Given the description of an element on the screen output the (x, y) to click on. 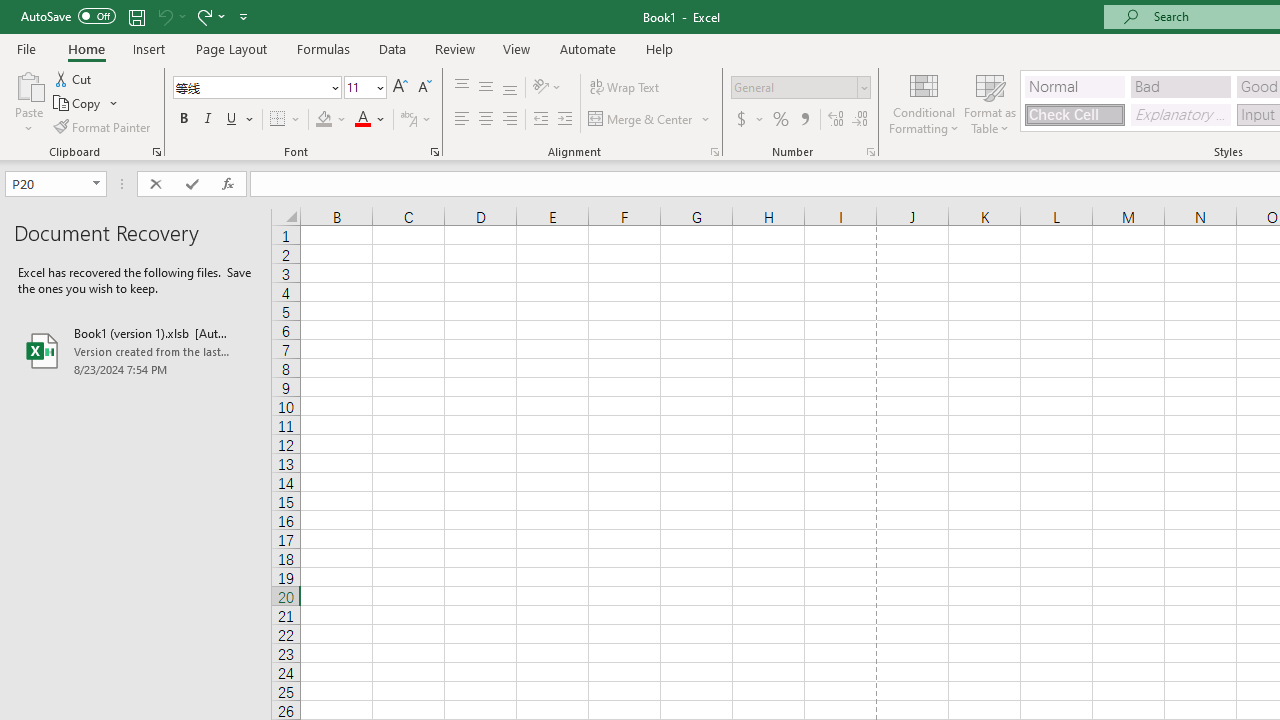
Decrease Decimal (859, 119)
Format Cell Alignment (714, 151)
Font Size (358, 87)
Cut (73, 78)
Accounting Number Format (741, 119)
Number Format (800, 87)
Italic (207, 119)
Show Phonetic Field (416, 119)
Orientation (547, 87)
